Given the description of an element on the screen output the (x, y) to click on. 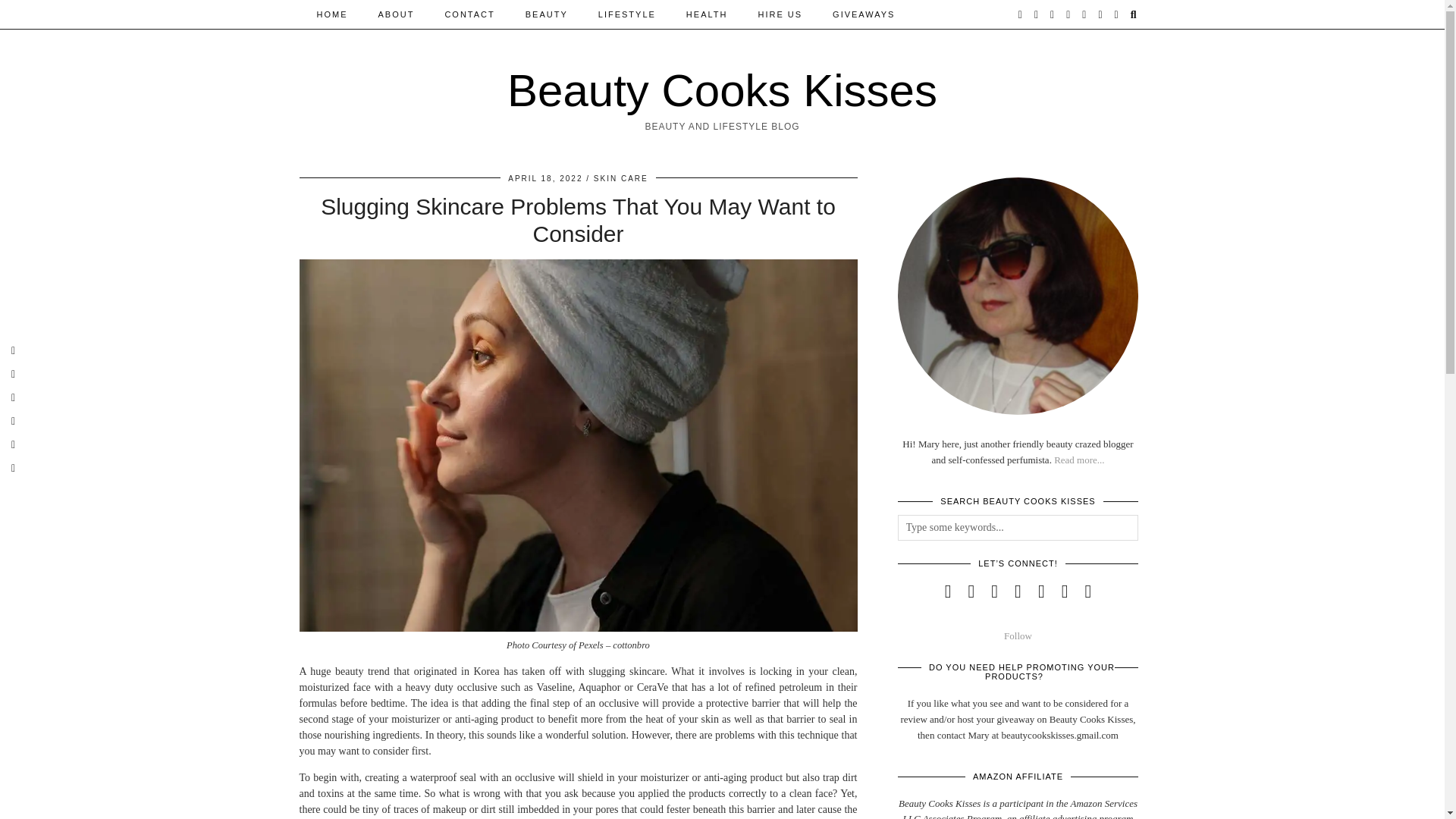
Twitter (1020, 14)
Beauty Cooks Kisses (721, 90)
